Given the description of an element on the screen output the (x, y) to click on. 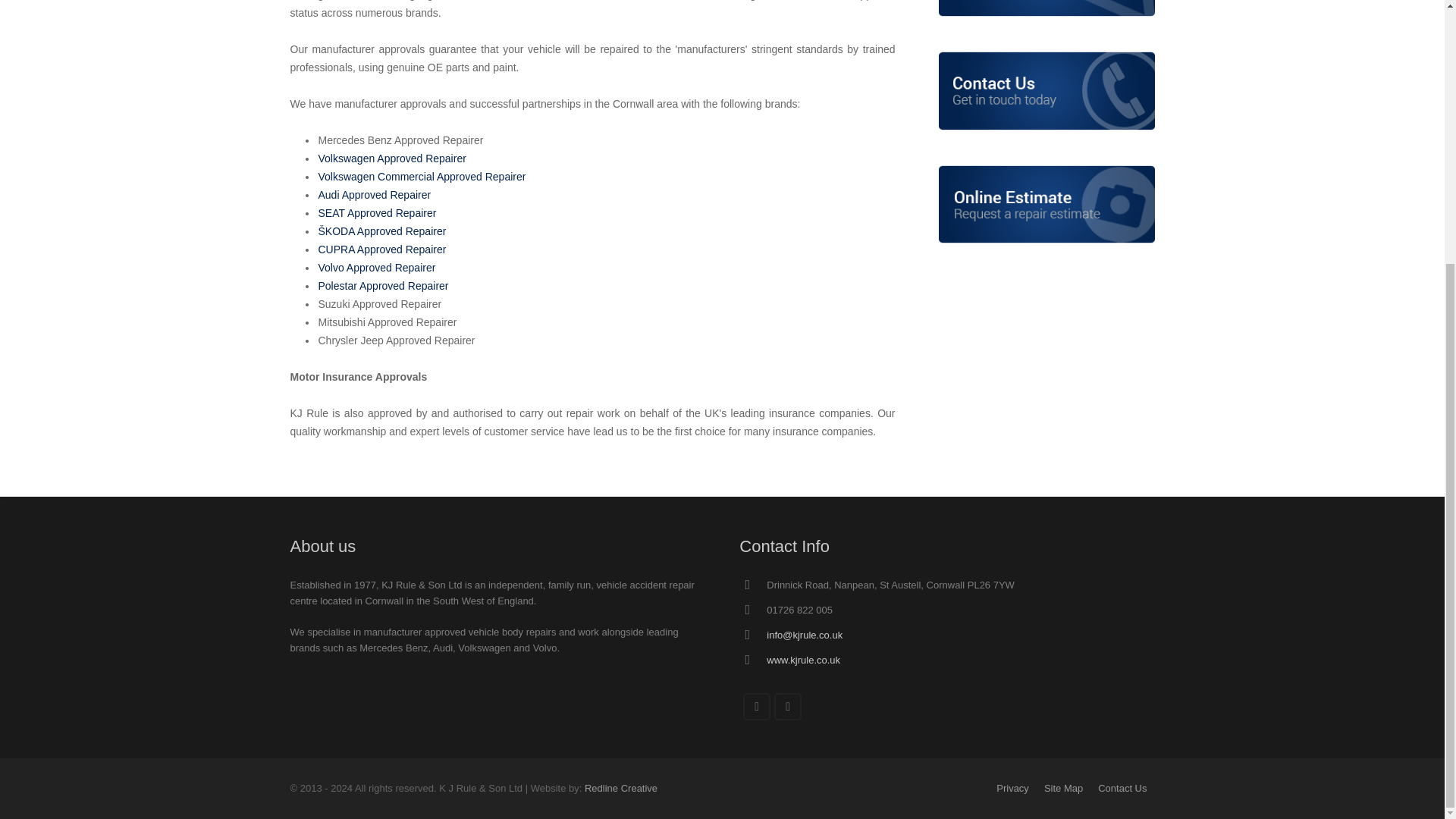
Volvo Approved Repairer (376, 267)
CUPRA Approved Repairer (382, 249)
Site Map (1063, 787)
SEAT Approved Repairer (377, 213)
www.kjrule.co.uk (803, 659)
Polestar Approved Repairer (383, 285)
Contact Us (1122, 787)
Privacy (1012, 787)
Redline Creative (621, 787)
Audi Approved Repairer (374, 194)
Volkswagen Approved Repairer (391, 158)
Volkswagen Commercial Approved Repairer (421, 176)
